Given the description of an element on the screen output the (x, y) to click on. 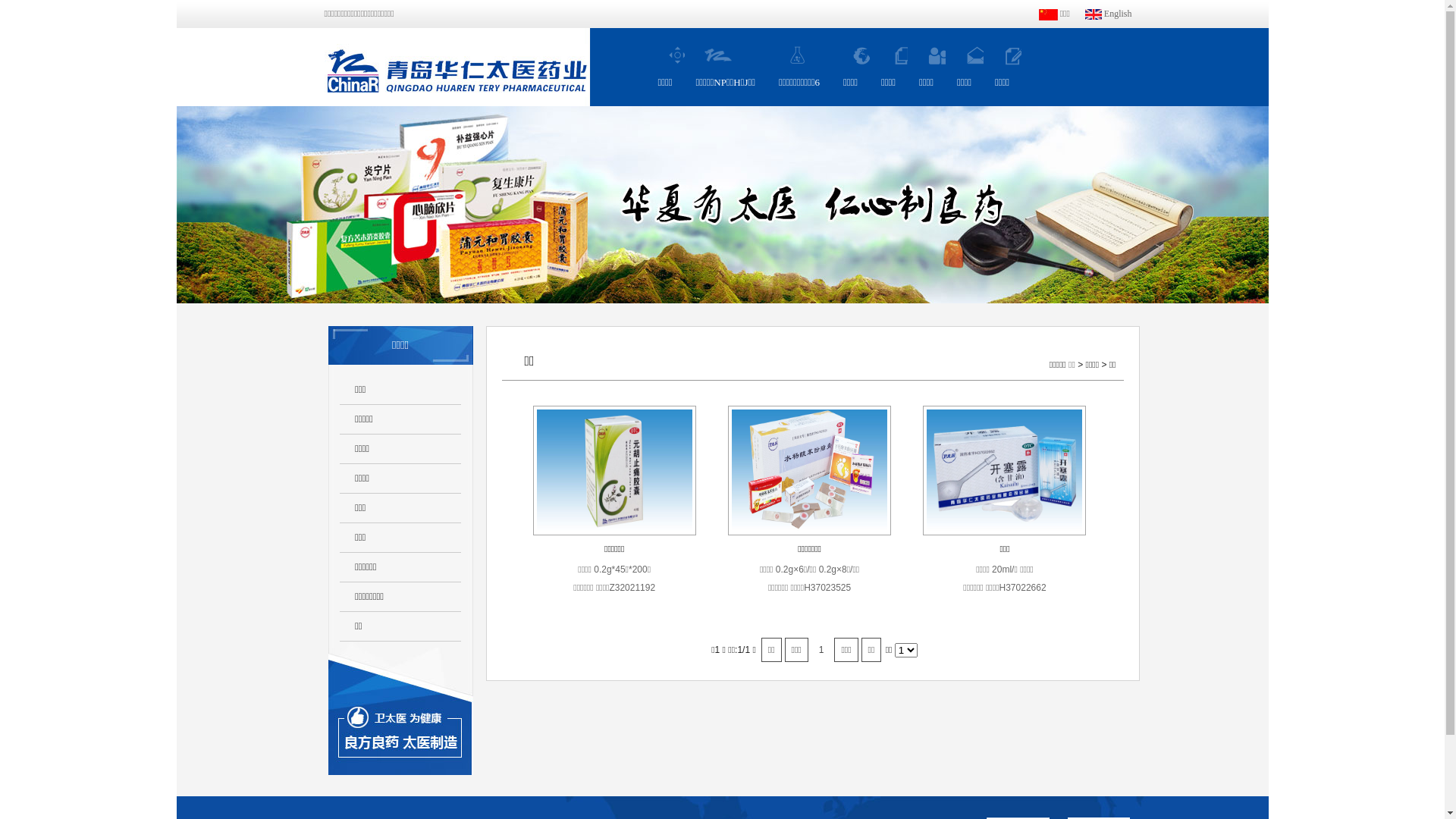
English Element type: text (1108, 13)
